Given the description of an element on the screen output the (x, y) to click on. 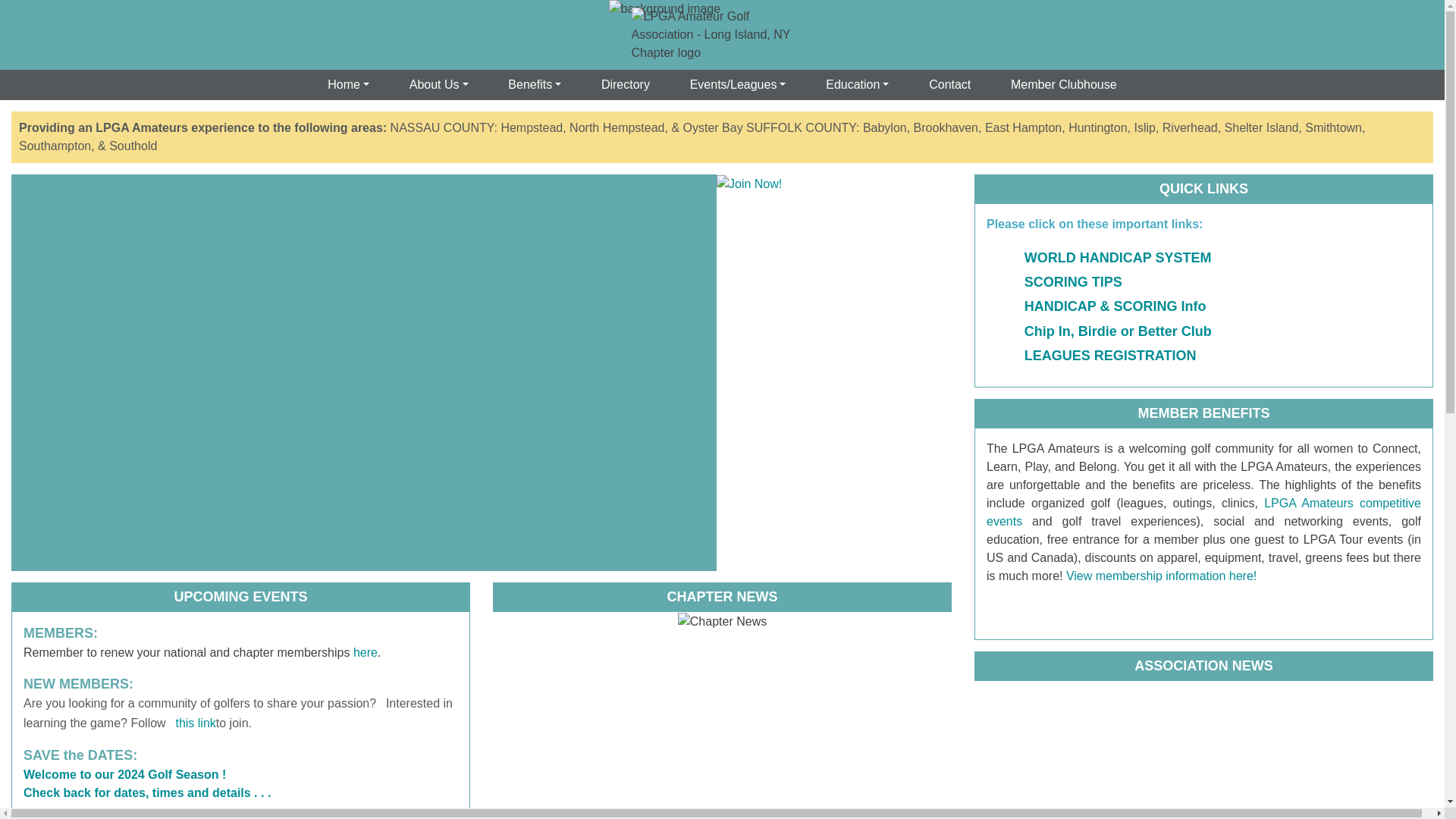
Contact (949, 84)
LPGA Amateur Golf Association - Long Island, NY Chapter logo (721, 34)
About Us (438, 84)
Member Clubhouse (1063, 84)
WORLD HANDICAP SYSTEM (1118, 257)
Directory (625, 84)
Education (857, 84)
here (365, 652)
Home (348, 84)
this link (194, 722)
